Given the description of an element on the screen output the (x, y) to click on. 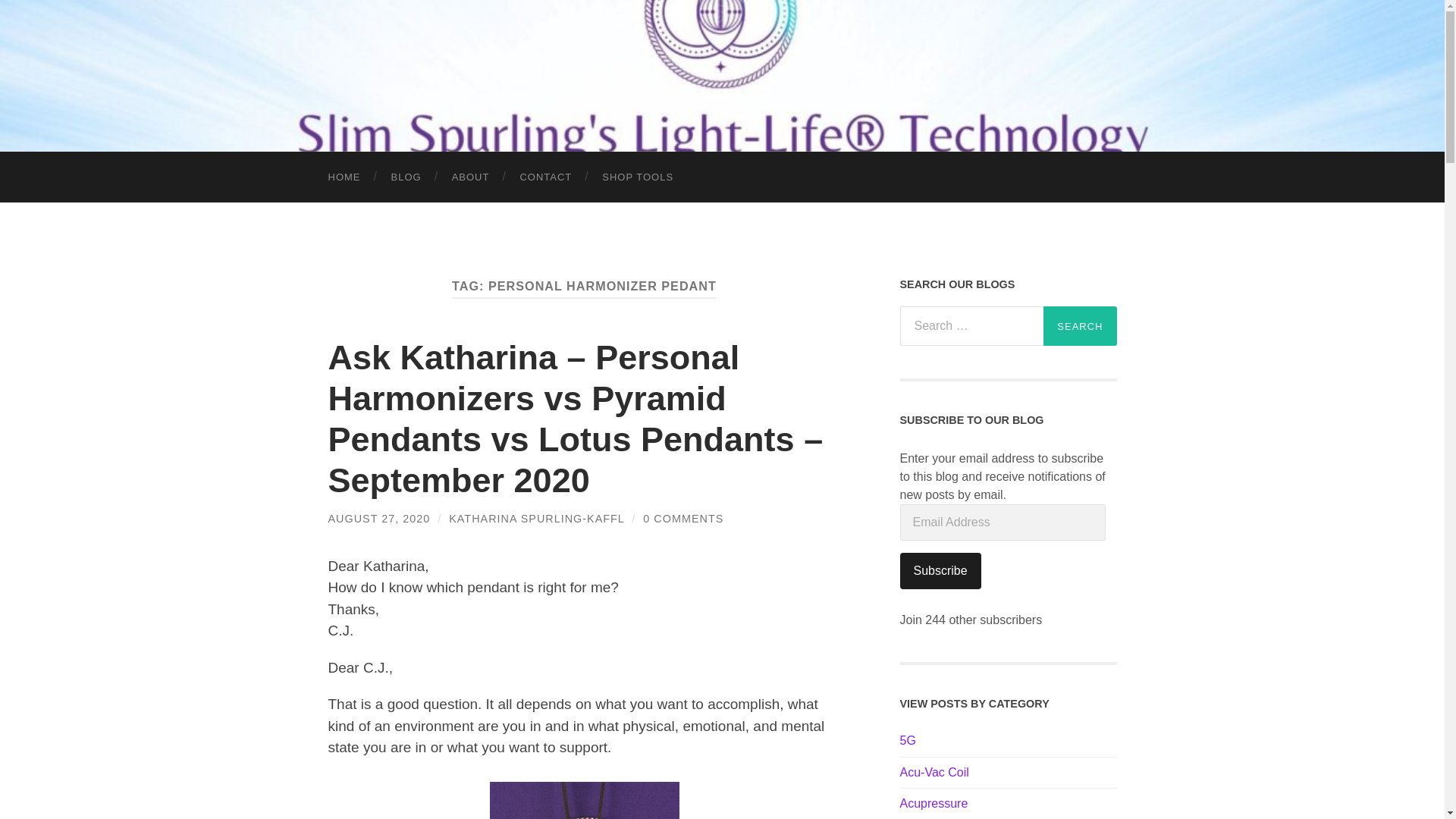
Subscribe (939, 570)
HOME (344, 176)
Search (1079, 325)
AUGUST 27, 2020 (378, 518)
ABOUT (470, 176)
BLOG (405, 176)
Search (1079, 325)
KATHARINA SPURLING-KAFFL (536, 518)
Acu-Vac Coil (933, 771)
SHOP TOOLS (637, 176)
CONTACT (544, 176)
0 COMMENTS (683, 518)
Acupressure (933, 802)
5G (907, 739)
Posts by Katharina Spurling-Kaffl (536, 518)
